Given the description of an element on the screen output the (x, y) to click on. 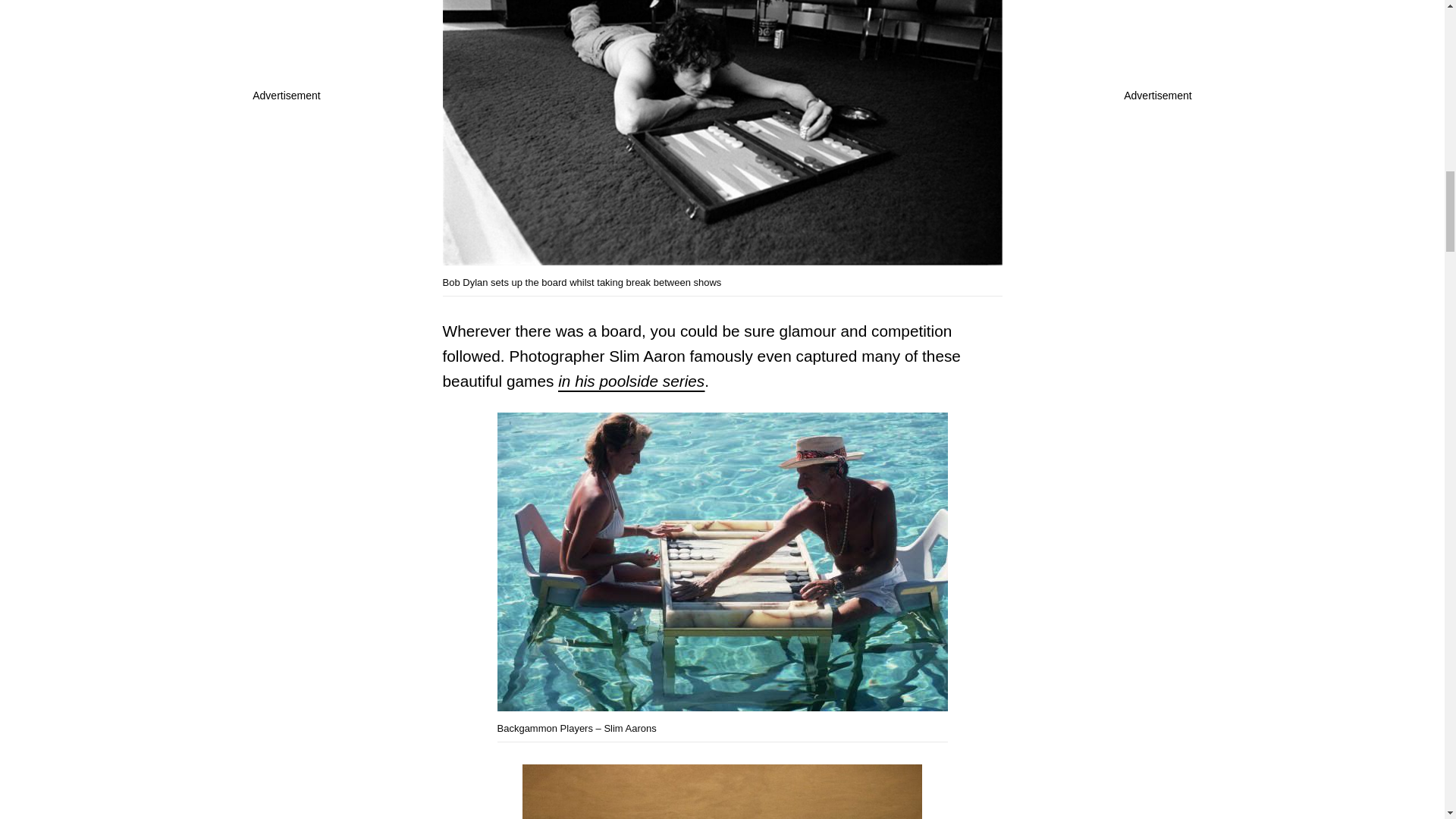
in his poolside series (630, 380)
